Given the description of an element on the screen output the (x, y) to click on. 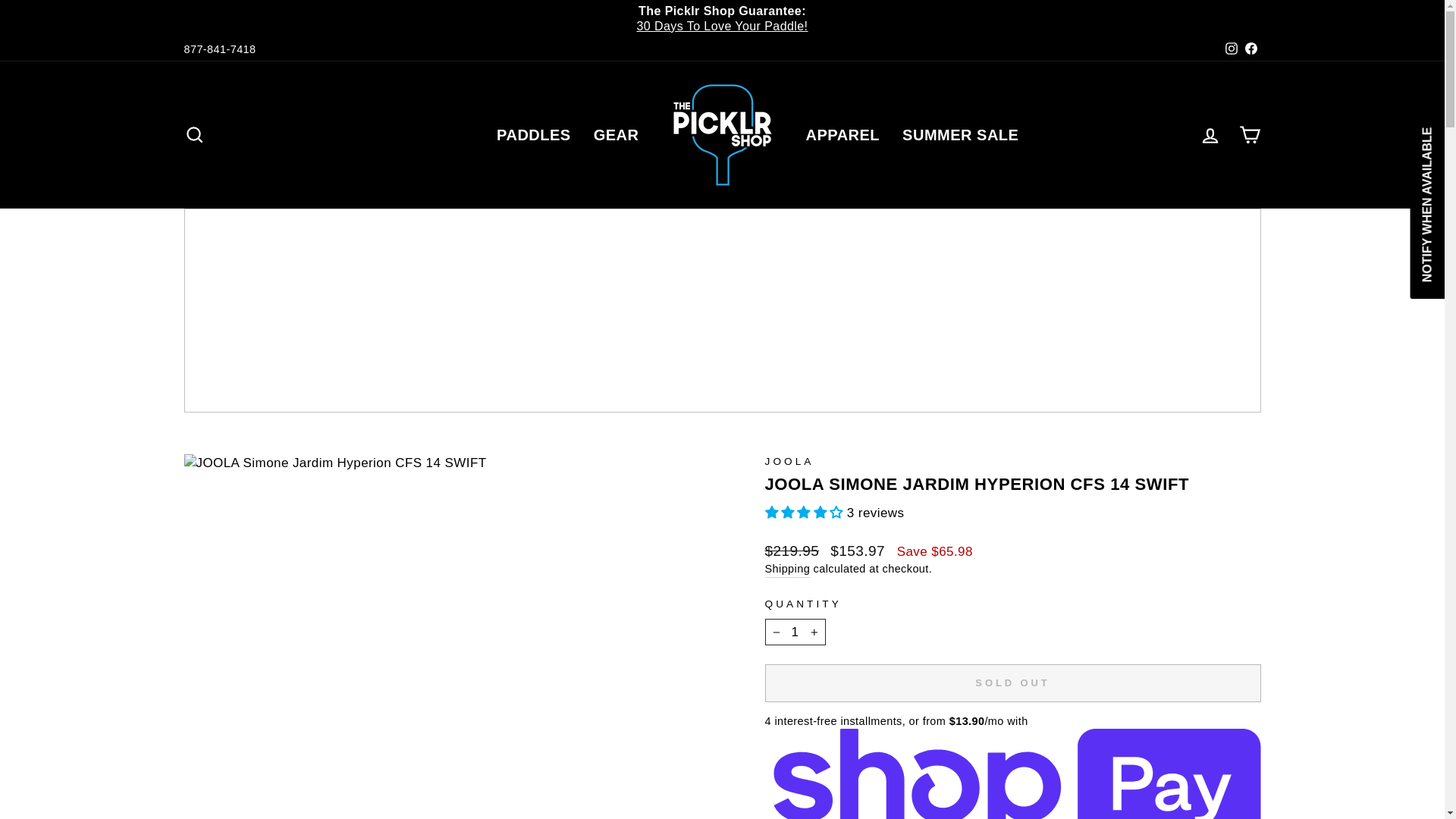
JOOLA (788, 460)
1 (794, 632)
